Given the description of an element on the screen output the (x, y) to click on. 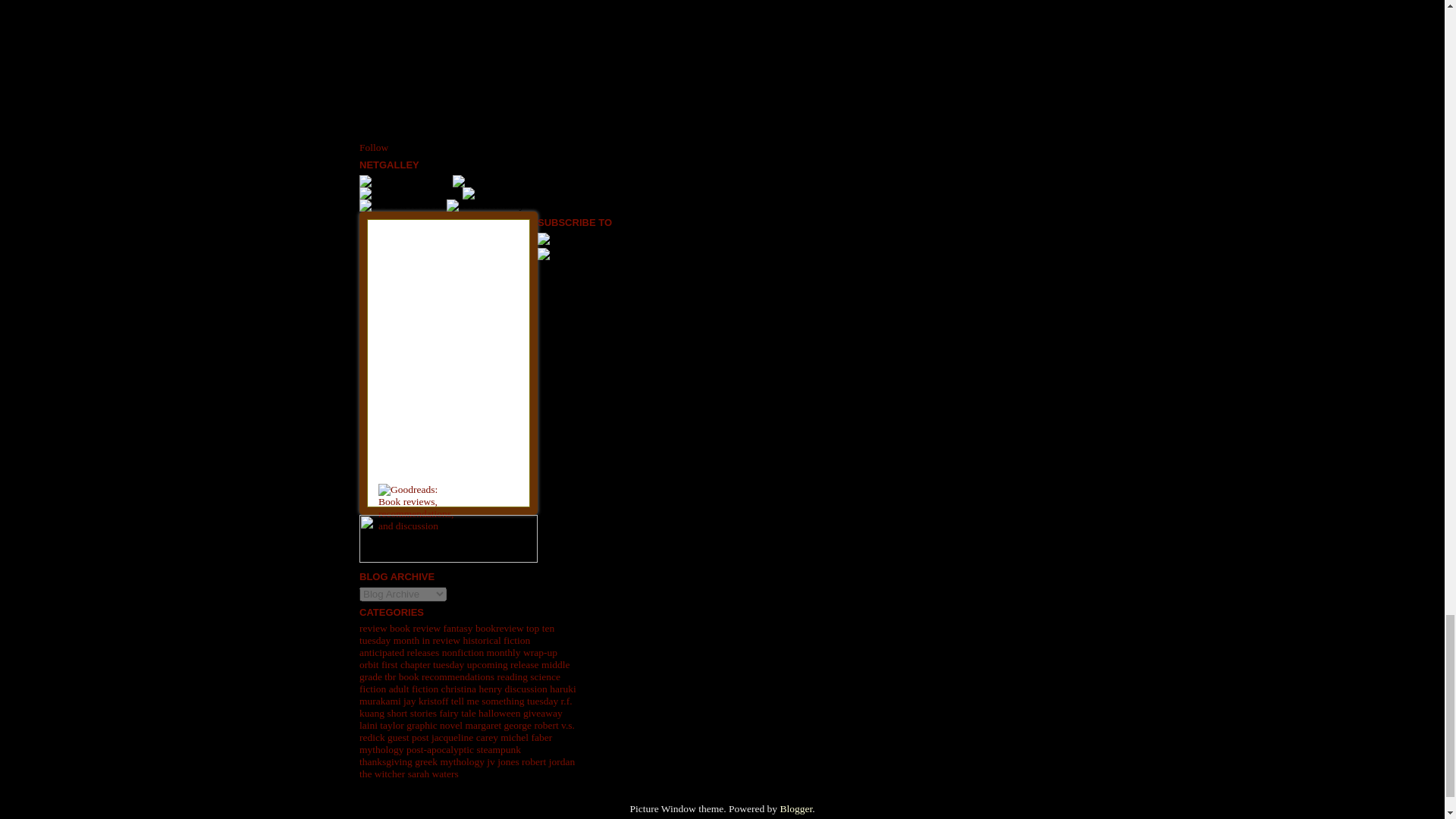
Reviews Published (404, 181)
Professional Reader (498, 181)
Challenge Participant (409, 193)
